Given the description of an element on the screen output the (x, y) to click on. 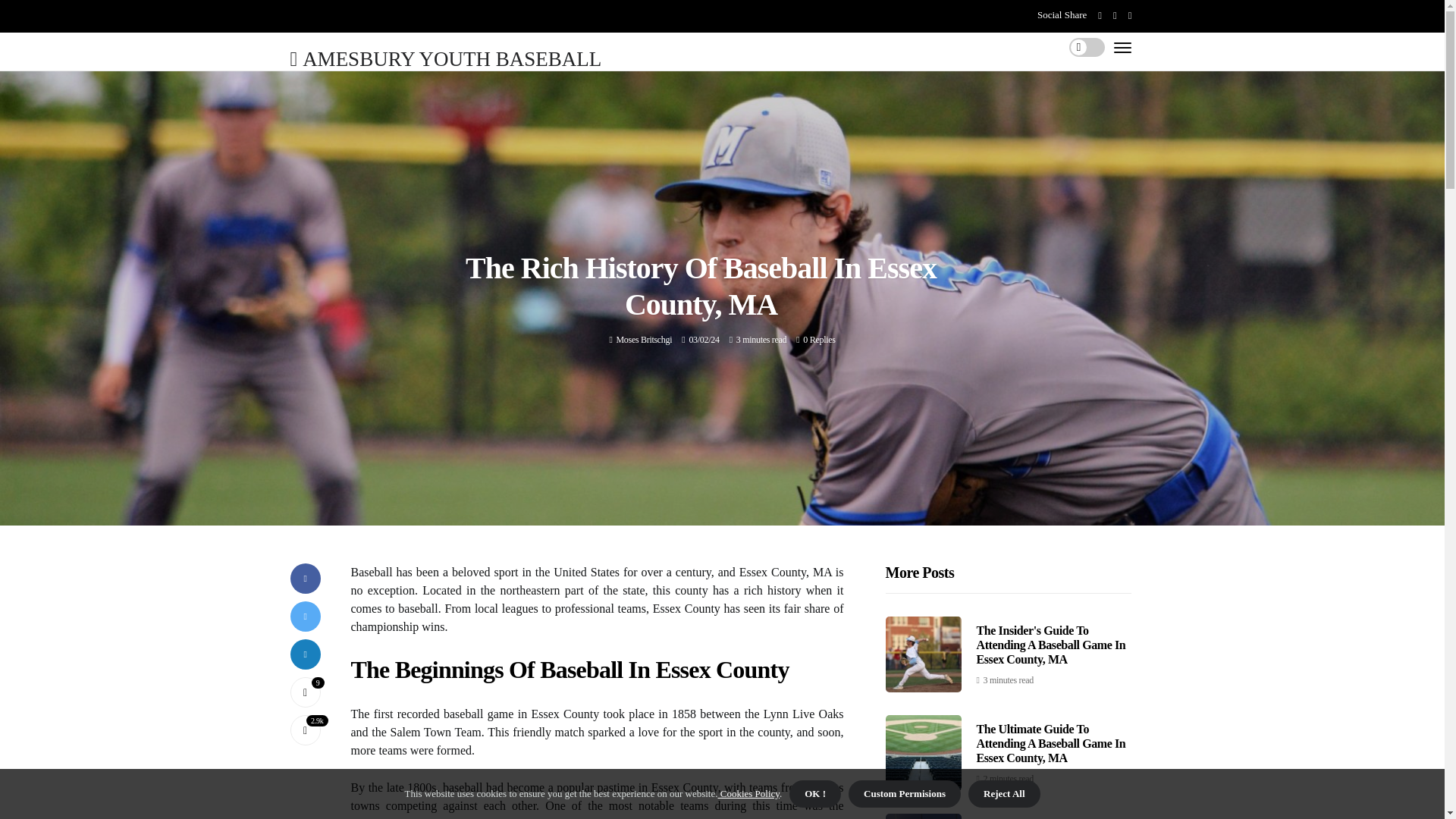
Moses Britschgi (643, 339)
9 (304, 692)
Like (304, 692)
Posts by Moses Britschgi (643, 339)
AMESBURY YOUTH BASEBALL (445, 58)
0 Replies (818, 339)
